Given the description of an element on the screen output the (x, y) to click on. 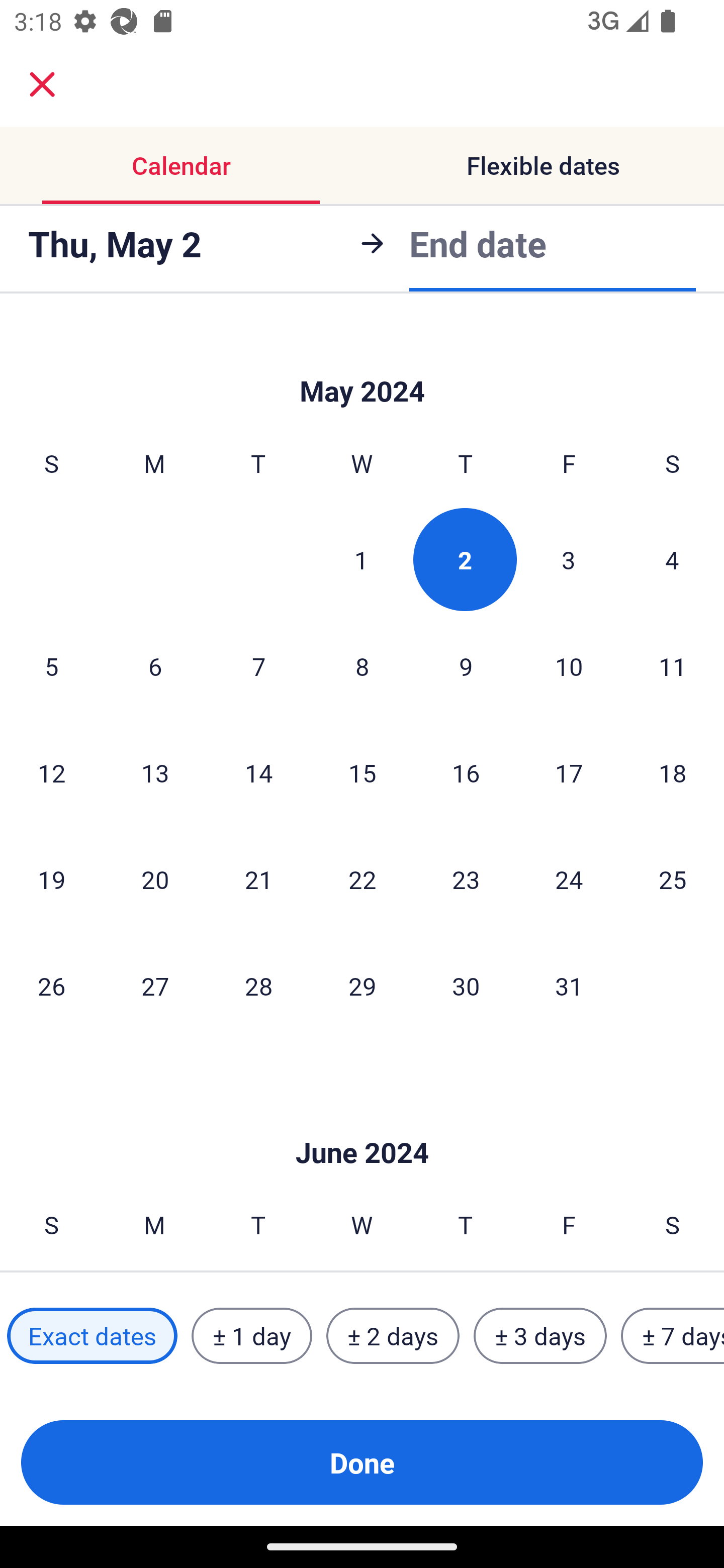
close. (42, 84)
Flexible dates (542, 164)
End date (477, 243)
Skip to Done (362, 361)
1 Wednesday, May 1, 2024 (361, 559)
3 Friday, May 3, 2024 (568, 559)
4 Saturday, May 4, 2024 (672, 559)
5 Sunday, May 5, 2024 (51, 666)
6 Monday, May 6, 2024 (155, 666)
7 Tuesday, May 7, 2024 (258, 666)
8 Wednesday, May 8, 2024 (362, 666)
9 Thursday, May 9, 2024 (465, 666)
10 Friday, May 10, 2024 (569, 666)
11 Saturday, May 11, 2024 (672, 666)
12 Sunday, May 12, 2024 (51, 772)
13 Monday, May 13, 2024 (155, 772)
14 Tuesday, May 14, 2024 (258, 772)
15 Wednesday, May 15, 2024 (362, 772)
16 Thursday, May 16, 2024 (465, 772)
17 Friday, May 17, 2024 (569, 772)
18 Saturday, May 18, 2024 (672, 772)
19 Sunday, May 19, 2024 (51, 879)
20 Monday, May 20, 2024 (155, 879)
21 Tuesday, May 21, 2024 (258, 879)
22 Wednesday, May 22, 2024 (362, 879)
23 Thursday, May 23, 2024 (465, 879)
24 Friday, May 24, 2024 (569, 879)
25 Saturday, May 25, 2024 (672, 879)
26 Sunday, May 26, 2024 (51, 986)
27 Monday, May 27, 2024 (155, 986)
28 Tuesday, May 28, 2024 (258, 986)
29 Wednesday, May 29, 2024 (362, 986)
30 Thursday, May 30, 2024 (465, 986)
31 Friday, May 31, 2024 (569, 986)
Skip to Done (362, 1122)
Exact dates (92, 1335)
± 1 day (251, 1335)
± 2 days (392, 1335)
± 3 days (539, 1335)
± 7 days (672, 1335)
Done (361, 1462)
